Given the description of an element on the screen output the (x, y) to click on. 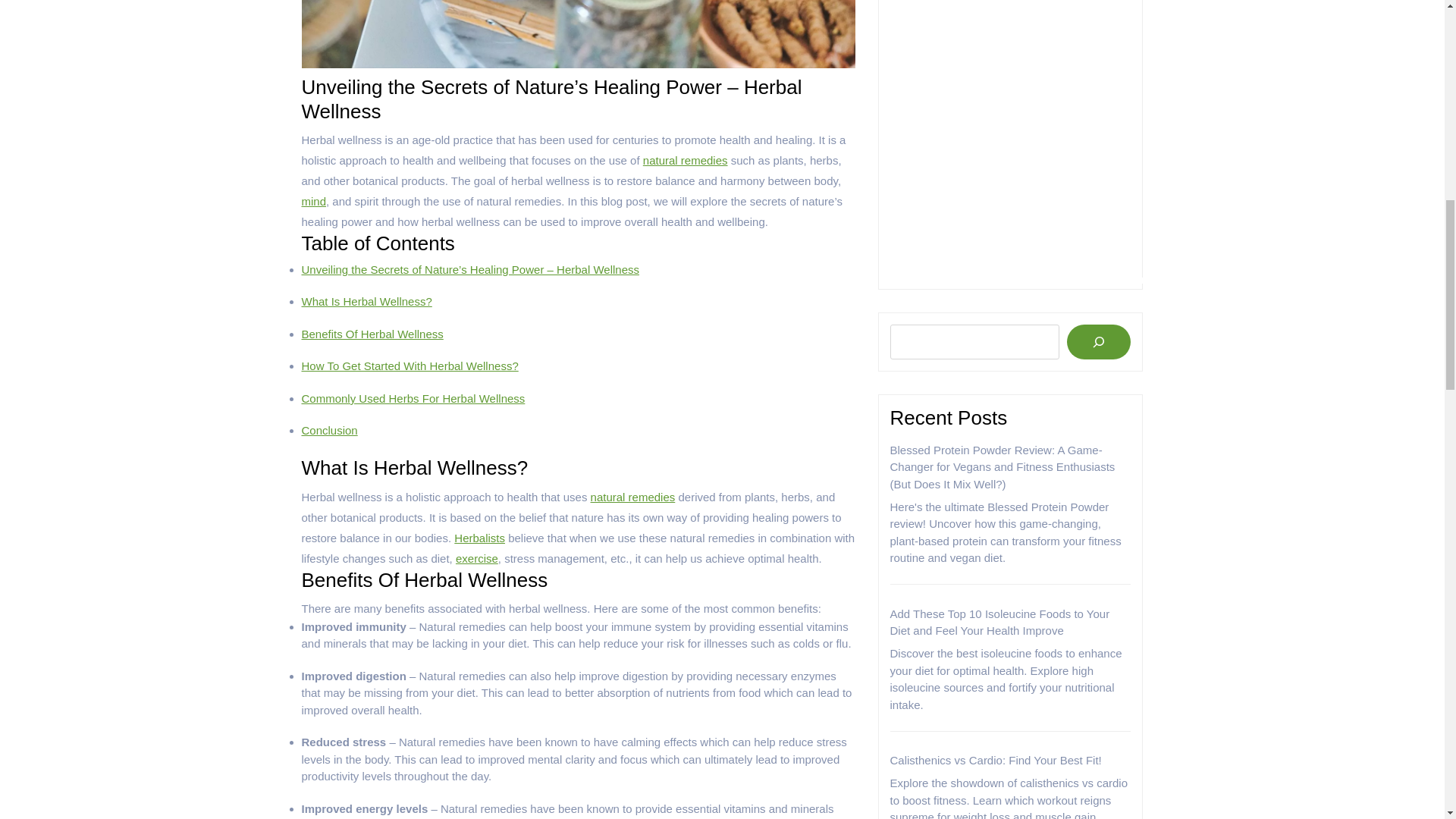
What Is Herbal Wellness? (366, 300)
Herbalists (479, 537)
Benefits Of Herbal Wellness (372, 333)
Conclusion (329, 430)
exercise (476, 558)
Commonly Used Herbs For Herbal Wellness (413, 398)
mind (313, 201)
How To Get Started With Herbal Wellness? (409, 365)
natural remedies (633, 496)
natural remedies (685, 160)
